Given the description of an element on the screen output the (x, y) to click on. 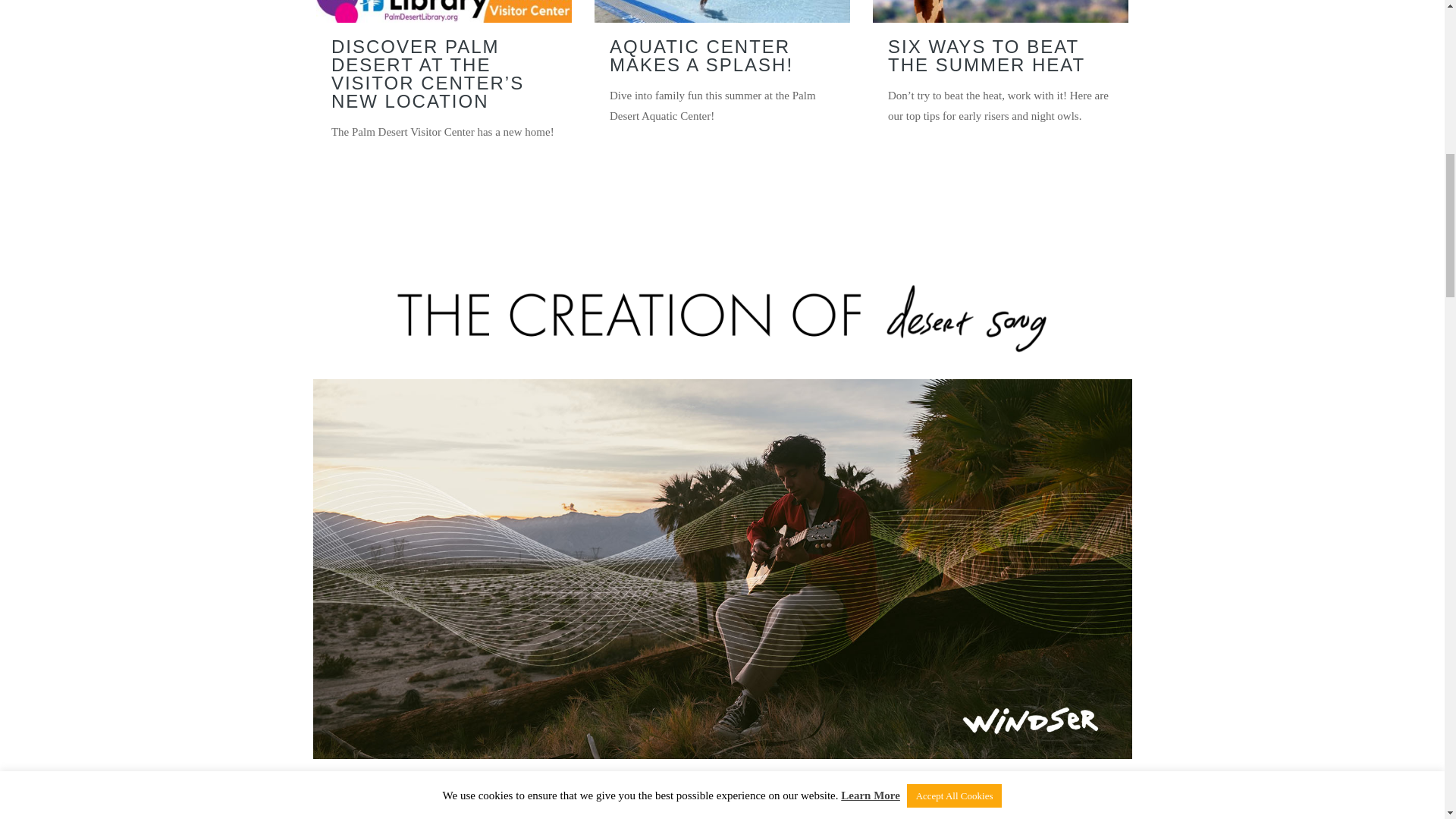
The Creation of Desert Song (721, 318)
AQUATIC CENTER MAKES A SPLASH! (701, 55)
SIX WAYS TO BEAT THE SUMMER HEAT (986, 55)
